Given the description of an element on the screen output the (x, y) to click on. 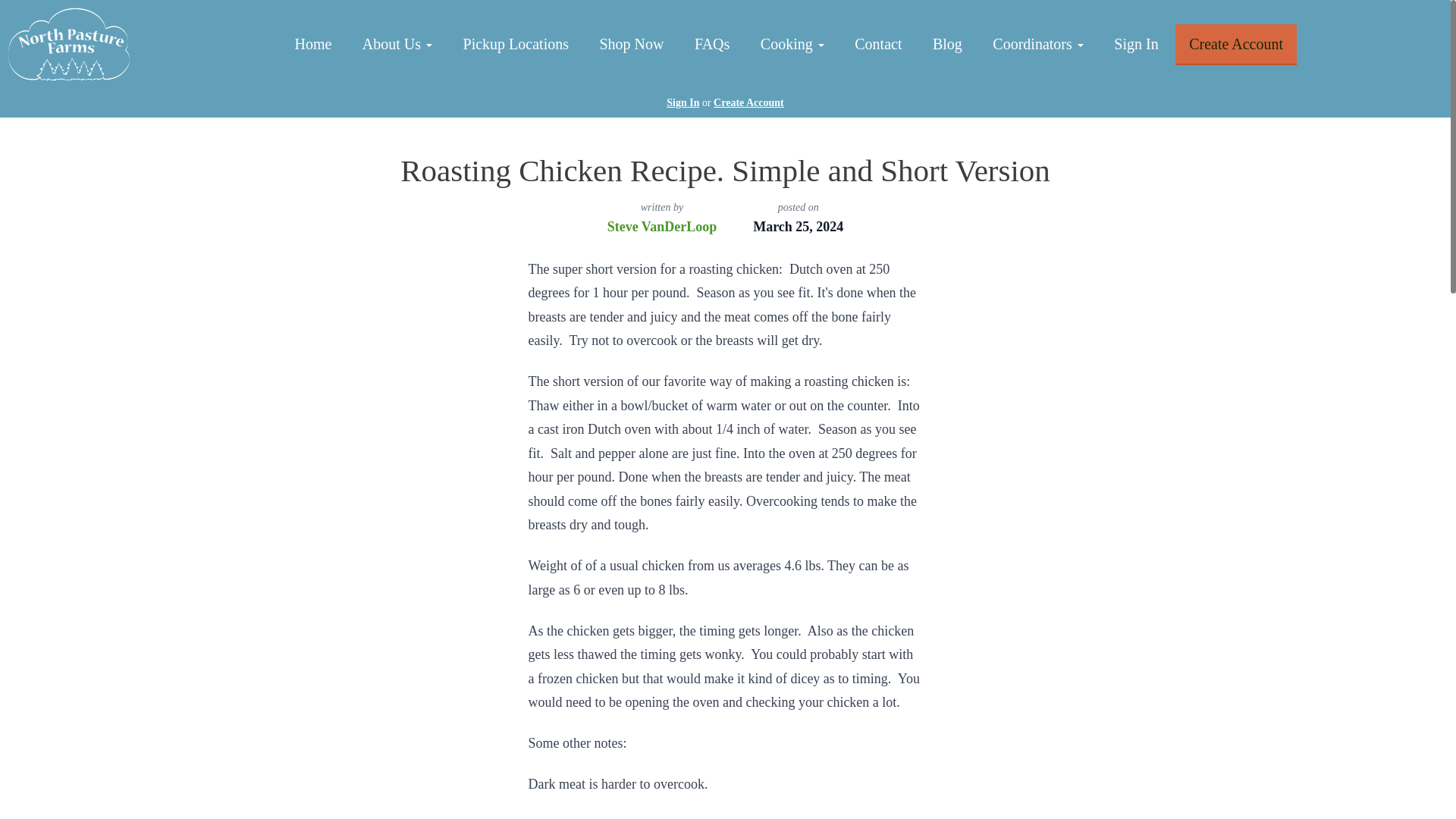
Pickup Locations (515, 45)
Sign In (682, 102)
Cooking (792, 45)
Sign In (1136, 45)
Blog (946, 45)
Home (313, 45)
Create Account (748, 102)
Steve VanDerLoop (662, 226)
Shop Now (631, 45)
About Us (397, 45)
Create Account (1235, 45)
FAQs (711, 45)
Coordinators (1037, 45)
Contact (878, 45)
